Given the description of an element on the screen output the (x, y) to click on. 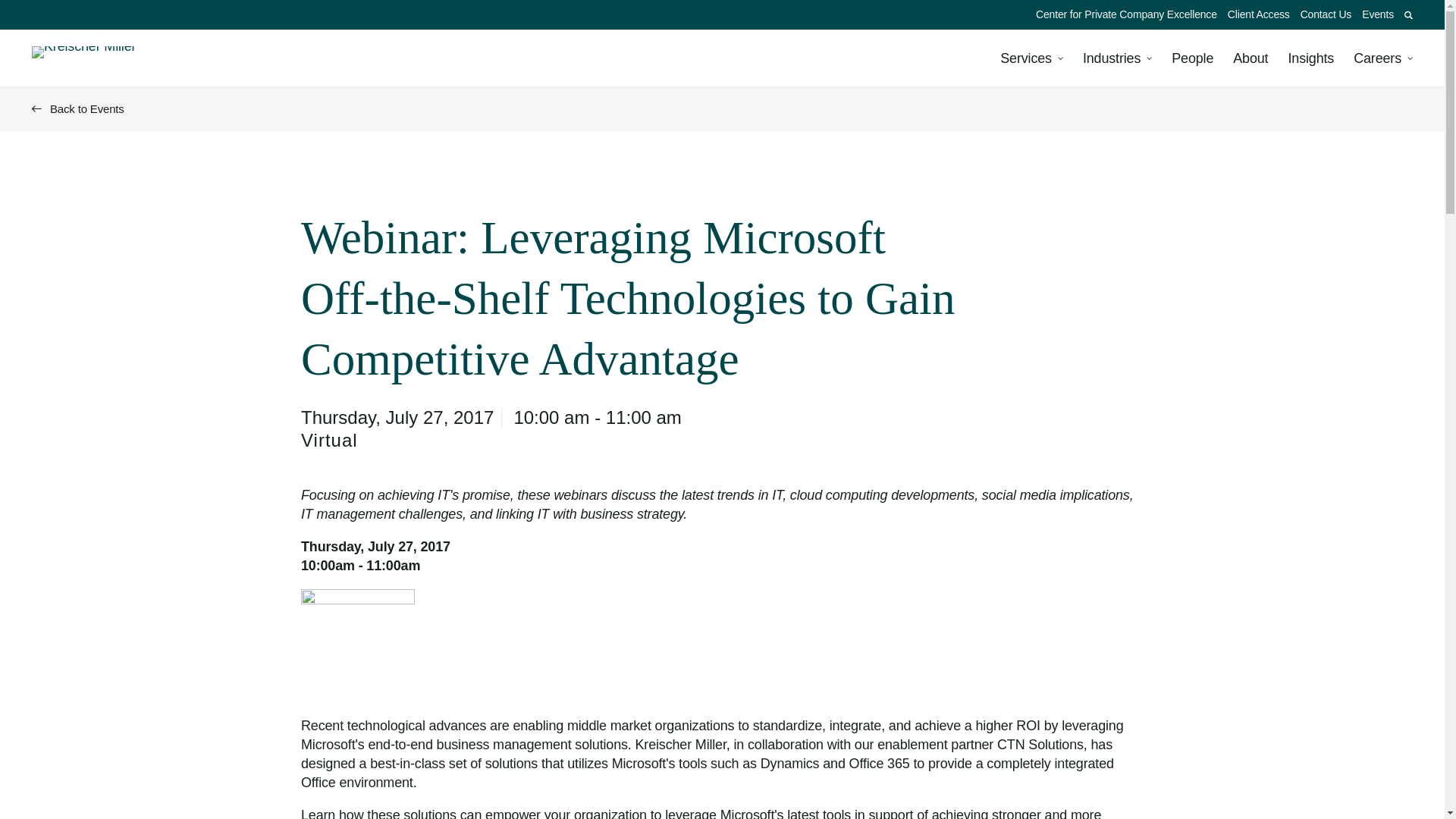
Contact Us (1326, 14)
Industries (1117, 58)
Center for Private Company Excellence (1126, 14)
Services (1031, 58)
Events (1377, 14)
Client Access (1259, 14)
